Given the description of an element on the screen output the (x, y) to click on. 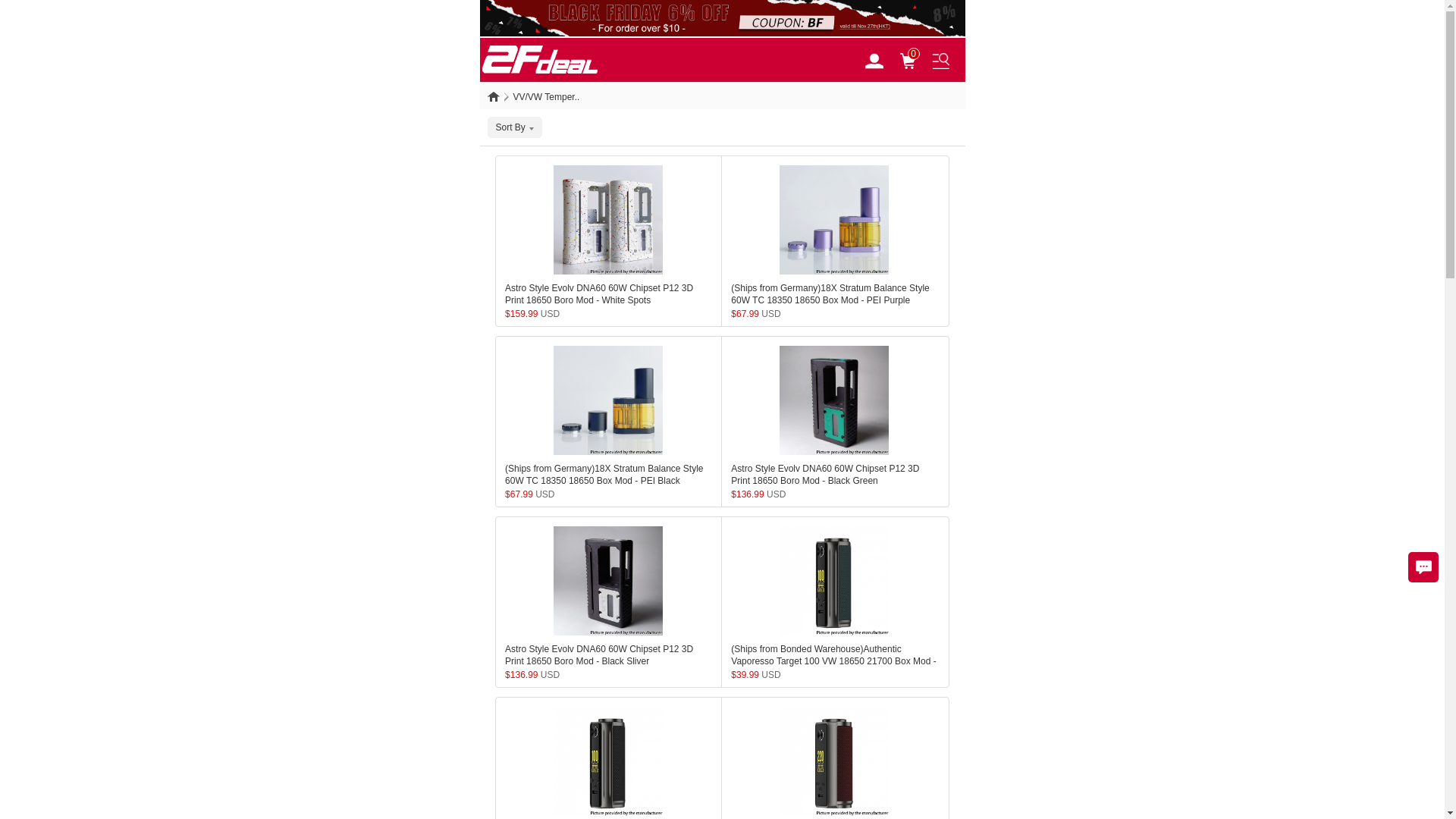
Chat Element type: text (1423, 567)
Sort By Element type: text (513, 127)
VV/VW Temper.. Element type: text (545, 96)
0 Element type: text (914, 59)
